Given the description of an element on the screen output the (x, y) to click on. 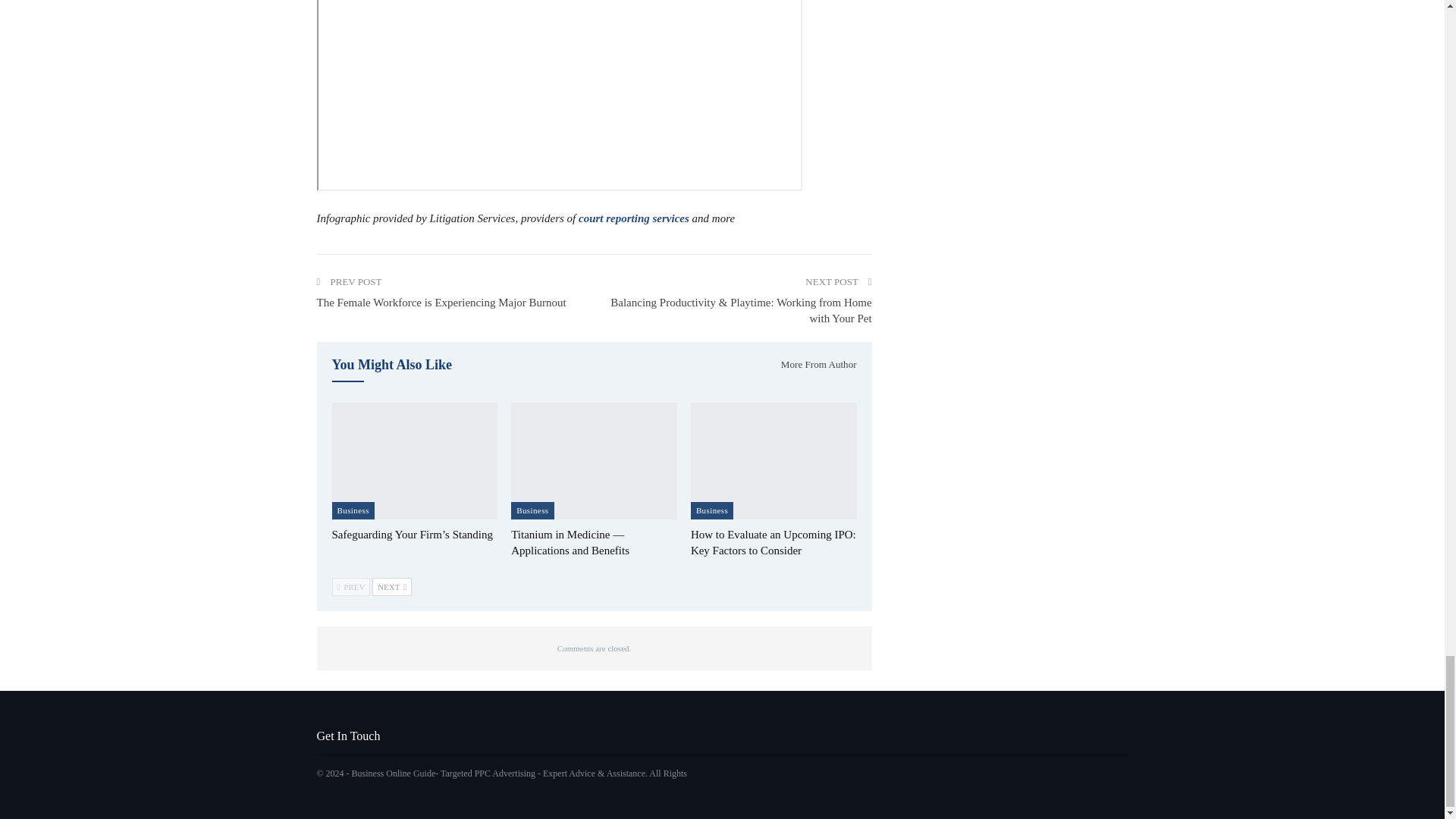
The Female Workforce is Experiencing Major Burnout (441, 302)
Business (532, 510)
court reporting services (633, 218)
How to Evaluate an Upcoming IPO: Key Factors to Consider (773, 542)
Previous (351, 587)
Next (392, 587)
How to Evaluate an Upcoming IPO: Key Factors to Consider (773, 460)
Business (352, 510)
You Might Also Like (391, 364)
More From Author (812, 364)
